Given the description of an element on the screen output the (x, y) to click on. 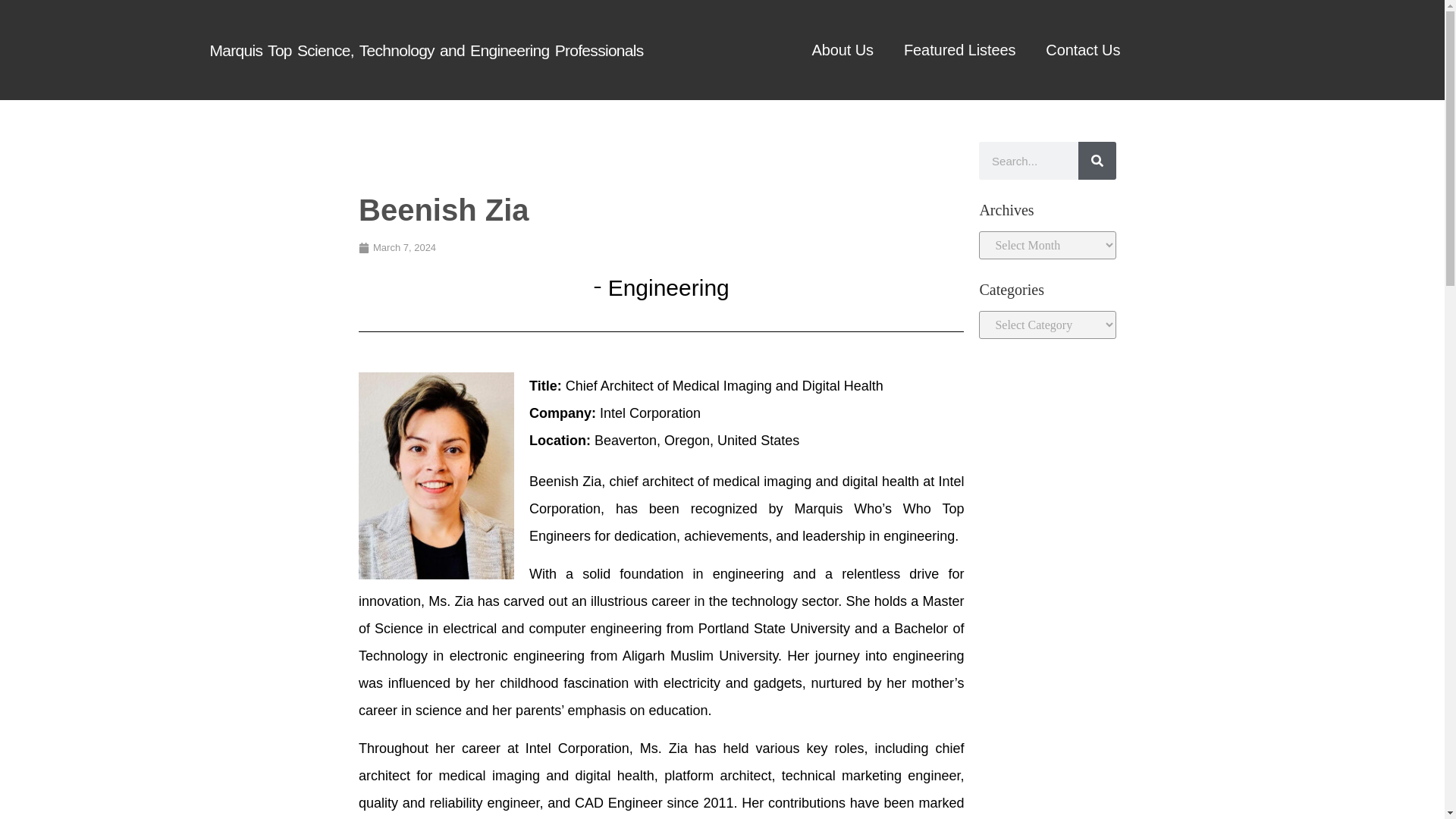
About Us (842, 49)
Engineering (668, 286)
March 7, 2024 (396, 247)
Featured Listees (959, 49)
Contact Us (1082, 49)
